Given the description of an element on the screen output the (x, y) to click on. 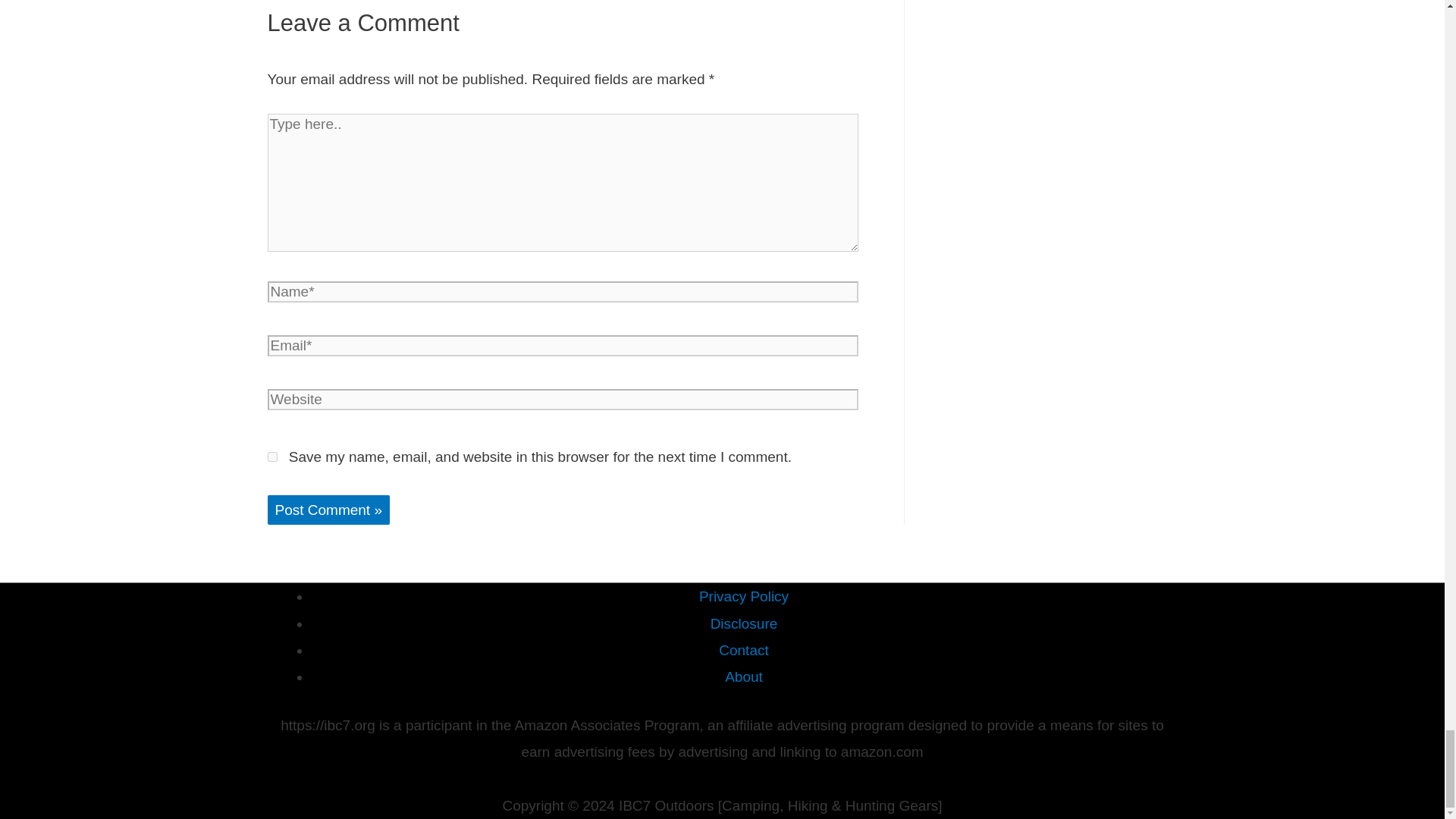
Contact (743, 650)
Disclosure (743, 623)
yes (271, 456)
About (743, 676)
Privacy Policy (743, 596)
